Given the description of an element on the screen output the (x, y) to click on. 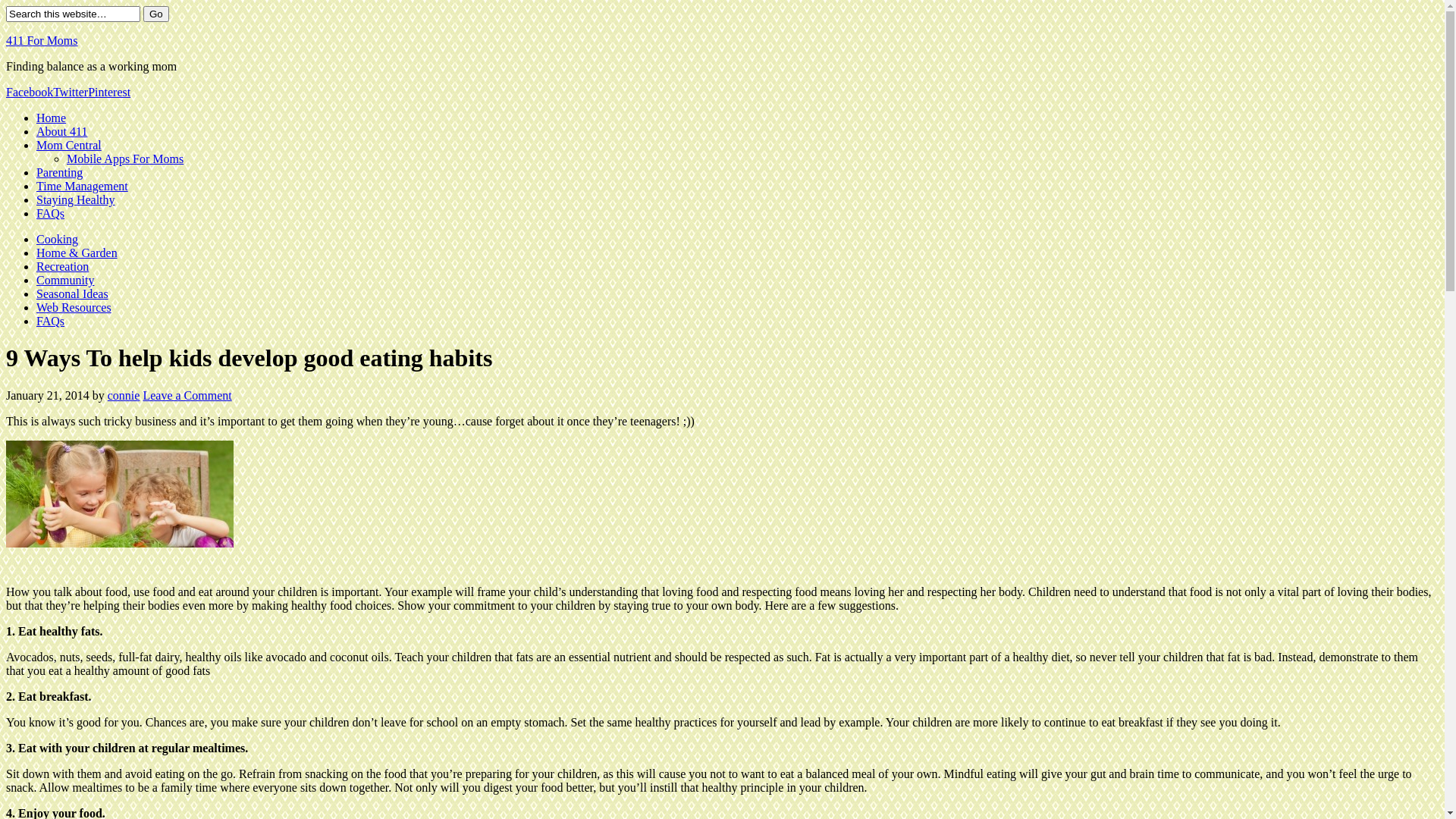
Recreation Element type: text (62, 266)
411 For Moms Element type: text (42, 40)
Home & Garden Element type: text (76, 252)
Cooking Element type: text (57, 238)
Mom Central Element type: text (68, 144)
Mobile Apps For Moms Element type: text (124, 158)
Pinterest Element type: text (108, 91)
FAQs Element type: text (50, 320)
Home Element type: text (50, 117)
FAQs Element type: text (50, 213)
Go Element type: text (156, 13)
Web Resources Element type: text (73, 307)
Time Management Element type: text (82, 185)
Seasonal Ideas Element type: text (72, 293)
Community Element type: text (65, 279)
Facebook Element type: text (29, 91)
Twitter Element type: text (70, 91)
Leave a Comment Element type: text (186, 395)
Parenting Element type: text (59, 172)
Staying Healthy Element type: text (75, 199)
About 411 Element type: text (61, 131)
connie Element type: text (123, 395)
